Given the description of an element on the screen output the (x, y) to click on. 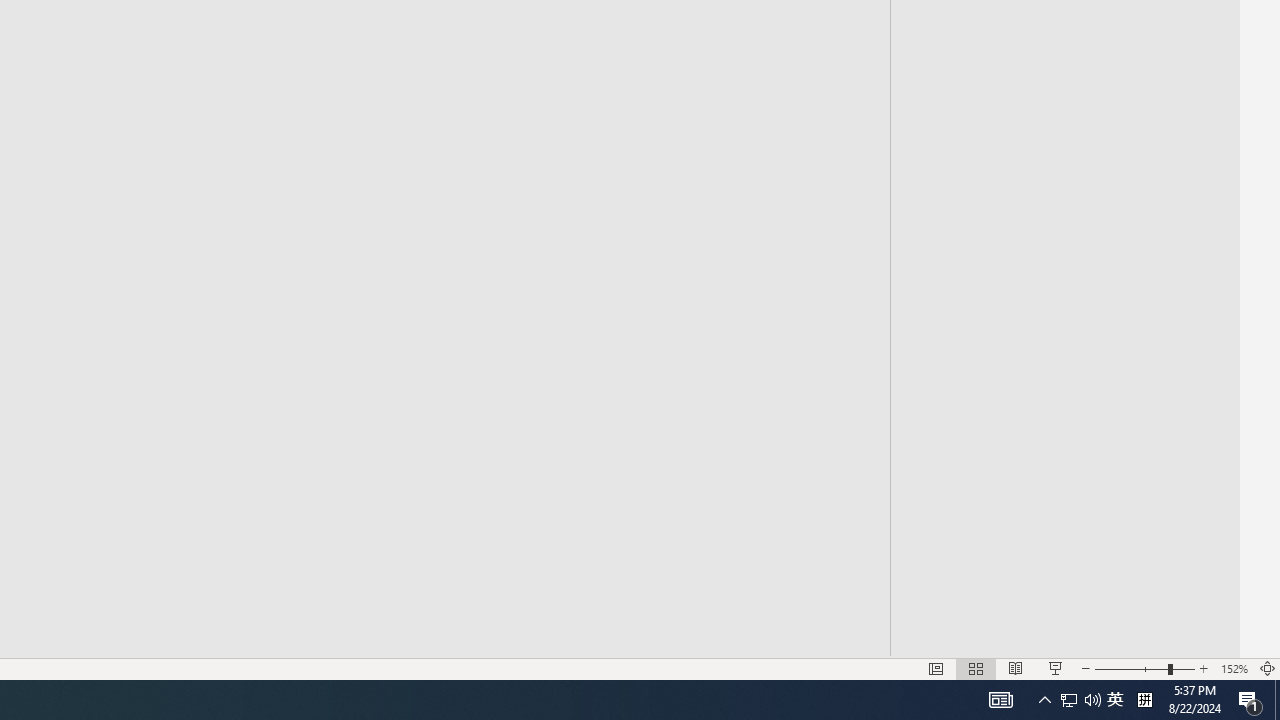
Zoom 152% (1234, 668)
